Given the description of an element on the screen output the (x, y) to click on. 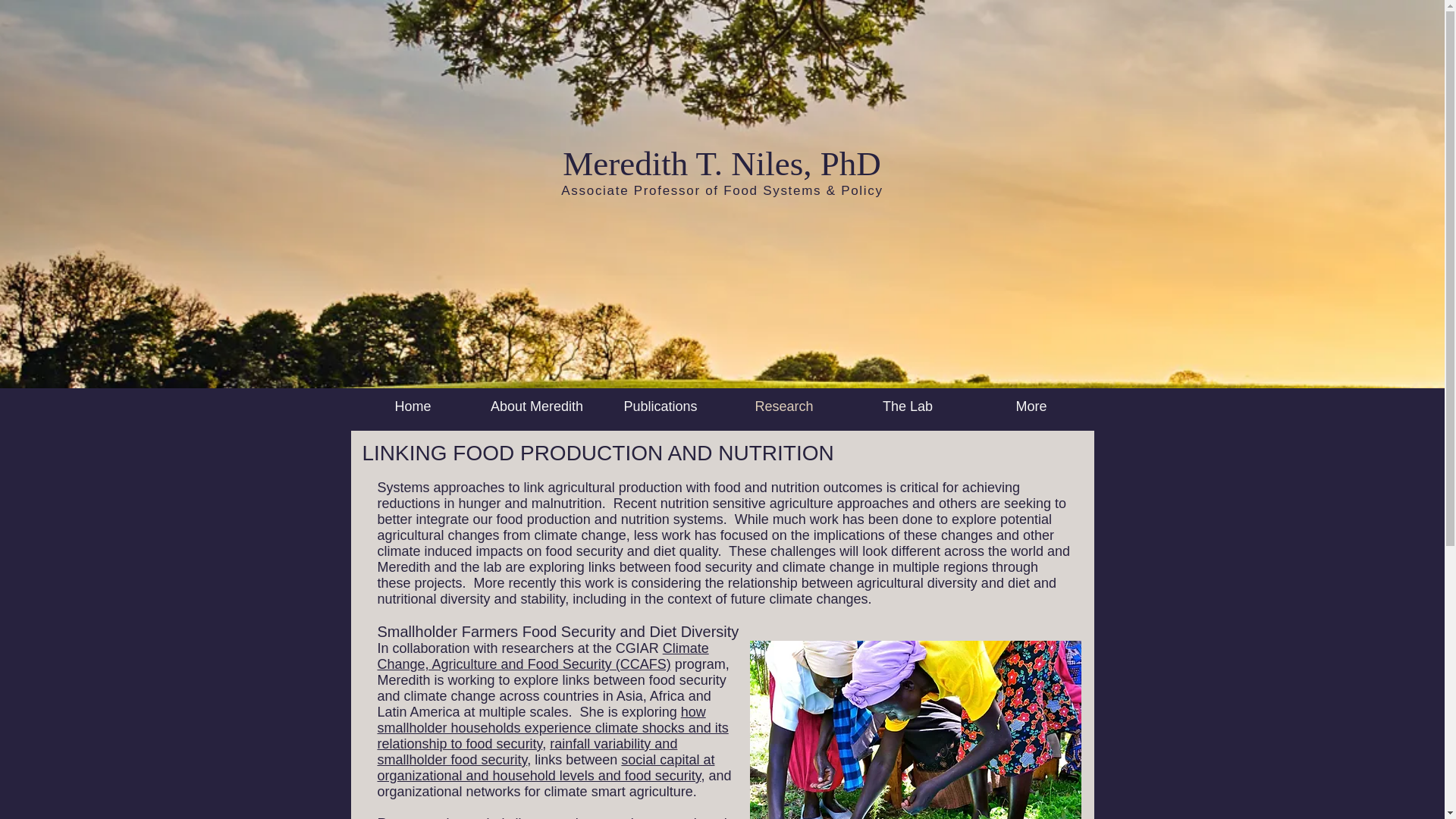
The Lab (907, 406)
Research (783, 406)
Publications (660, 406)
Home (412, 406)
Meredith T. Niles, PhD (721, 163)
About Meredith (536, 406)
rainfall variability and smallholder food security (527, 751)
